Given the description of an element on the screen output the (x, y) to click on. 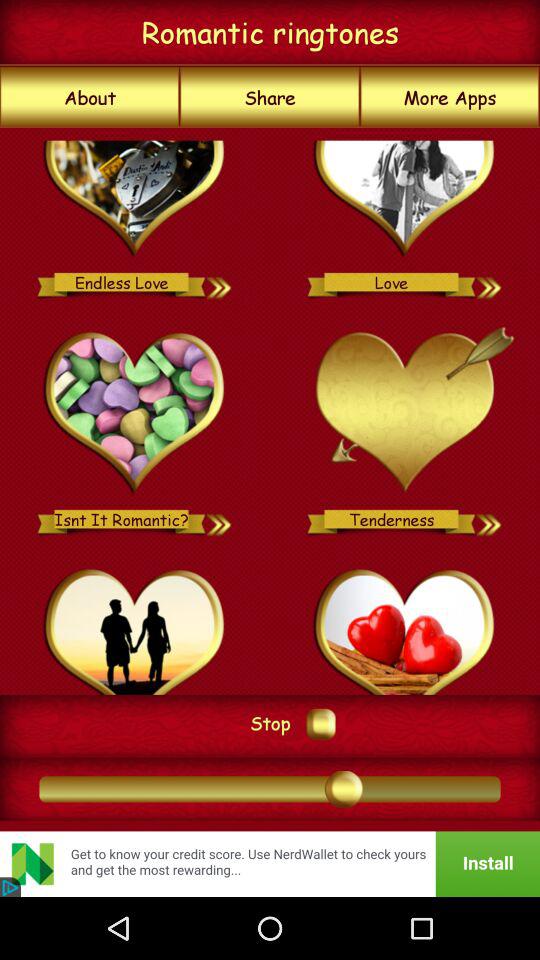
swipe until the about icon (90, 97)
